Given the description of an element on the screen output the (x, y) to click on. 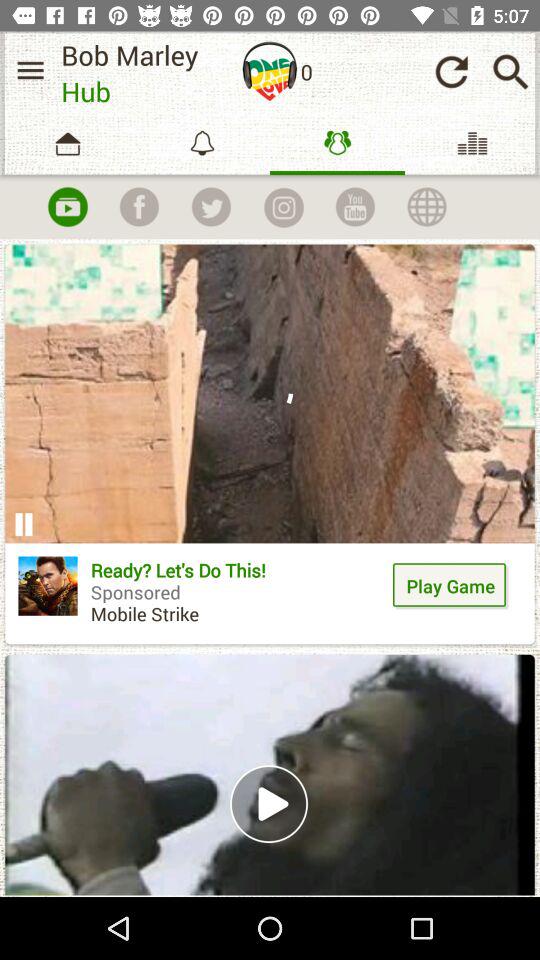
flip until play game item (450, 586)
